Given the description of an element on the screen output the (x, y) to click on. 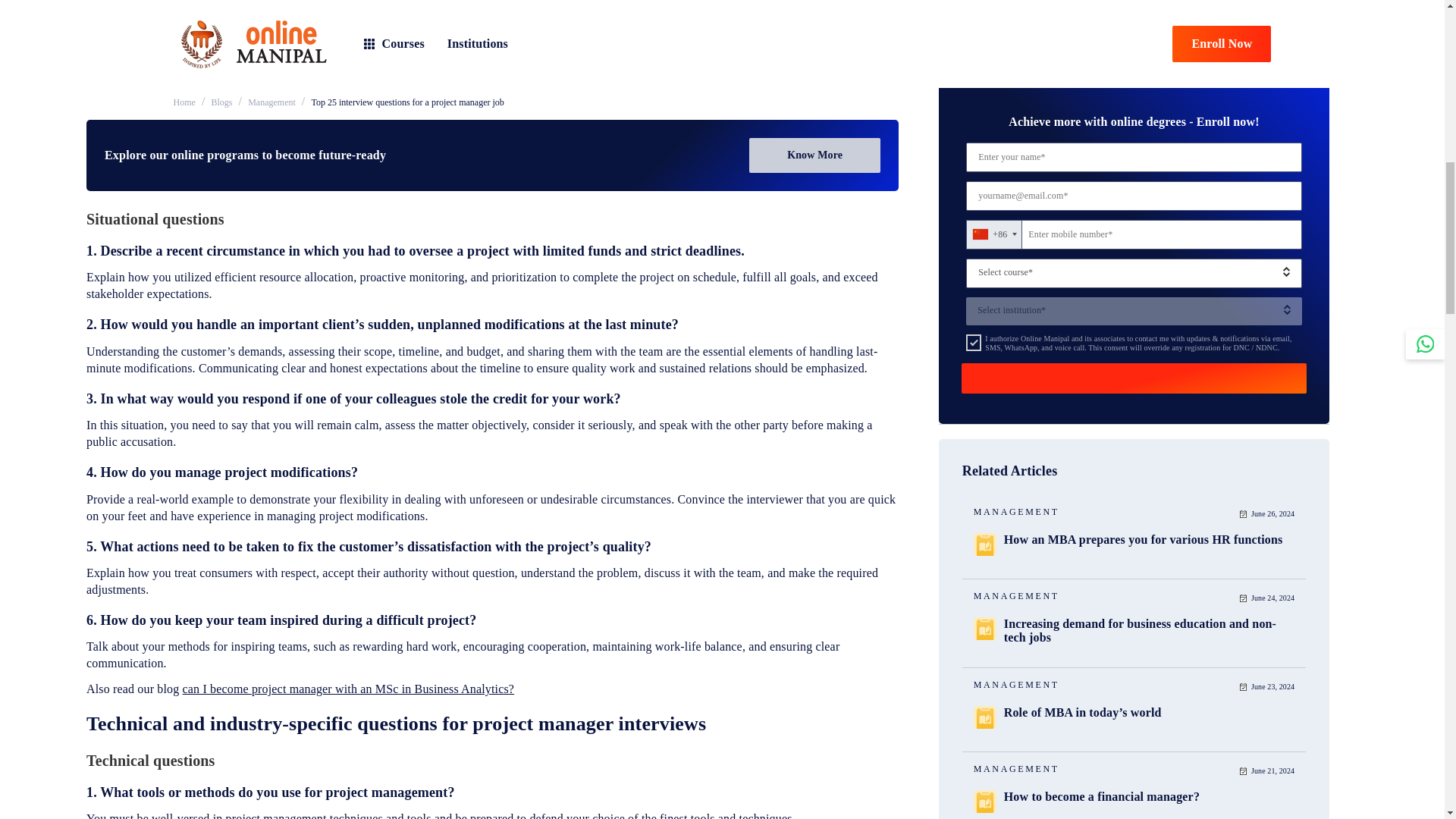
Know More (814, 155)
How to become a financial manager? (1101, 10)
business analyst vs. project manger (290, 97)
